Given the description of an element on the screen output the (x, y) to click on. 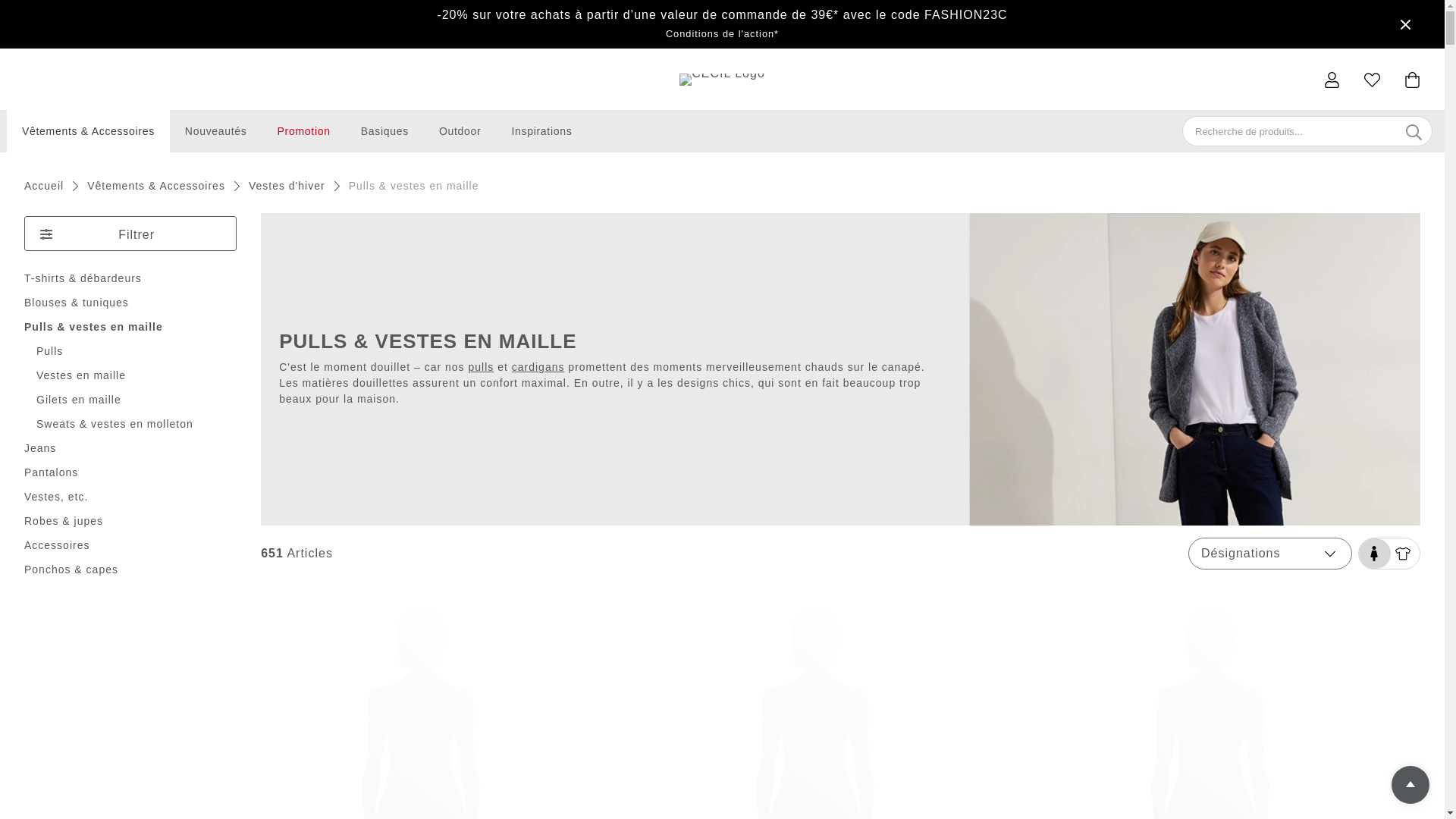
Pulls Element type: text (49, 351)
Ponchos & capes Element type: text (71, 569)
Promotion Element type: text (303, 130)
Inspirations Element type: text (540, 130)
Accueil Element type: text (46, 185)
Vestes d'hiver Element type: text (286, 185)
Sweats & vestes en molleton Element type: text (114, 423)
Accessoires Element type: text (56, 545)
Pulls & vestes en maille Element type: text (413, 185)
Vestes en maille Element type: text (80, 375)
Pulls & vestes en maille Element type: text (93, 326)
Gilets en maille Element type: text (78, 399)
Jeans Element type: text (40, 448)
cardigans Element type: text (537, 366)
pulls Element type: text (480, 366)
Outdoor Element type: text (459, 130)
Robes & jupes Element type: text (63, 520)
Basiques Element type: text (384, 130)
Pantalons Element type: text (51, 472)
Blouses & tuniques Element type: text (76, 302)
Vestes, etc. Element type: text (55, 496)
